Given the description of an element on the screen output the (x, y) to click on. 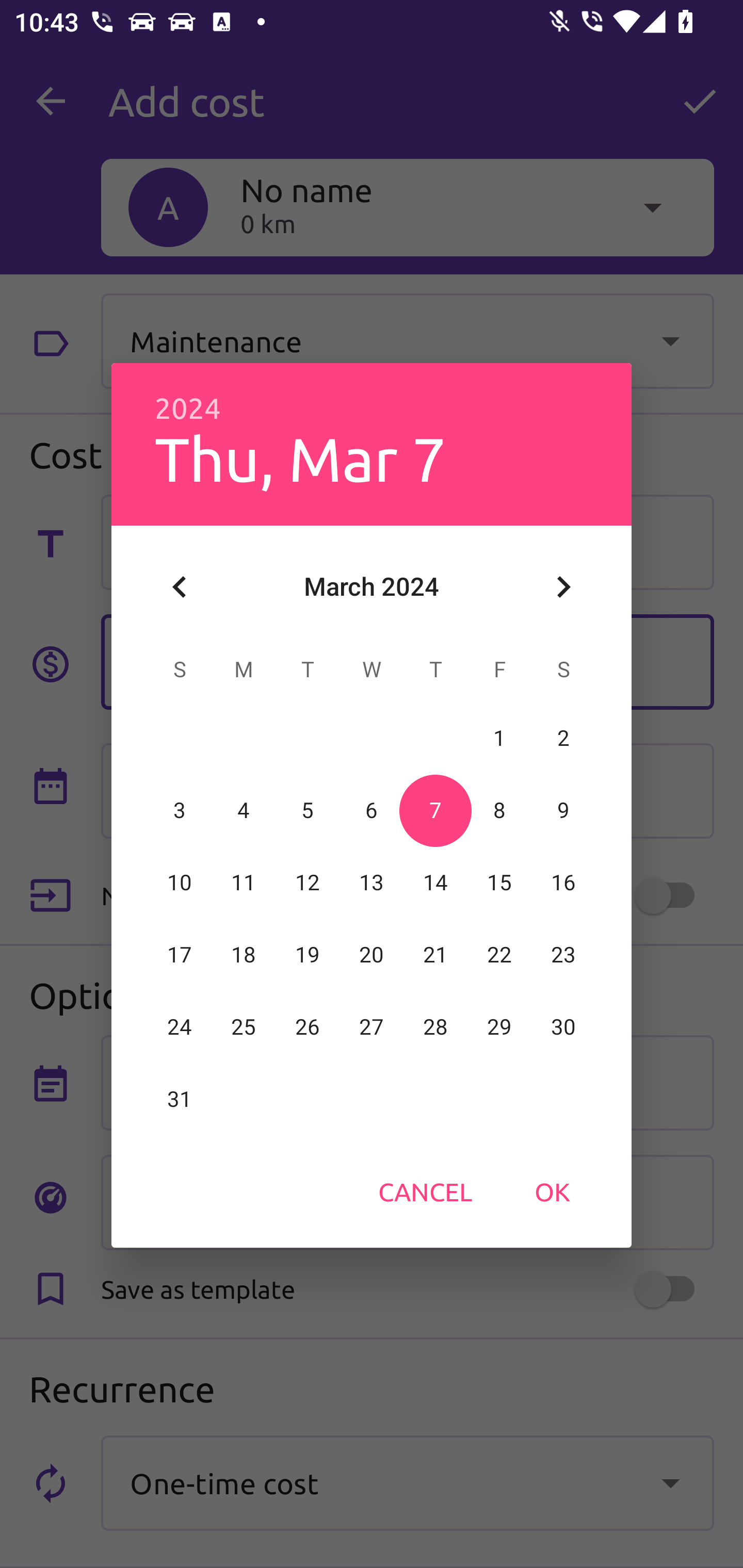
2024 (187, 408)
Thu, Mar 7 (300, 458)
Previous month (178, 587)
Next month (563, 587)
1 01 March 2024 (499, 738)
2 02 March 2024 (563, 738)
3 03 March 2024 (179, 810)
4 04 March 2024 (243, 810)
5 05 March 2024 (307, 810)
6 06 March 2024 (371, 810)
7 07 March 2024 (435, 810)
8 08 March 2024 (499, 810)
9 09 March 2024 (563, 810)
10 10 March 2024 (179, 882)
11 11 March 2024 (243, 882)
12 12 March 2024 (307, 882)
13 13 March 2024 (371, 882)
14 14 March 2024 (435, 882)
15 15 March 2024 (499, 882)
16 16 March 2024 (563, 882)
17 17 March 2024 (179, 954)
18 18 March 2024 (243, 954)
19 19 March 2024 (307, 954)
20 20 March 2024 (371, 954)
21 21 March 2024 (435, 954)
22 22 March 2024 (499, 954)
23 23 March 2024 (563, 954)
24 24 March 2024 (179, 1026)
25 25 March 2024 (243, 1026)
26 26 March 2024 (307, 1026)
27 27 March 2024 (371, 1026)
28 28 March 2024 (435, 1026)
29 29 March 2024 (499, 1026)
30 30 March 2024 (563, 1026)
31 31 March 2024 (179, 1099)
CANCEL (425, 1191)
OK (552, 1191)
